Given the description of an element on the screen output the (x, y) to click on. 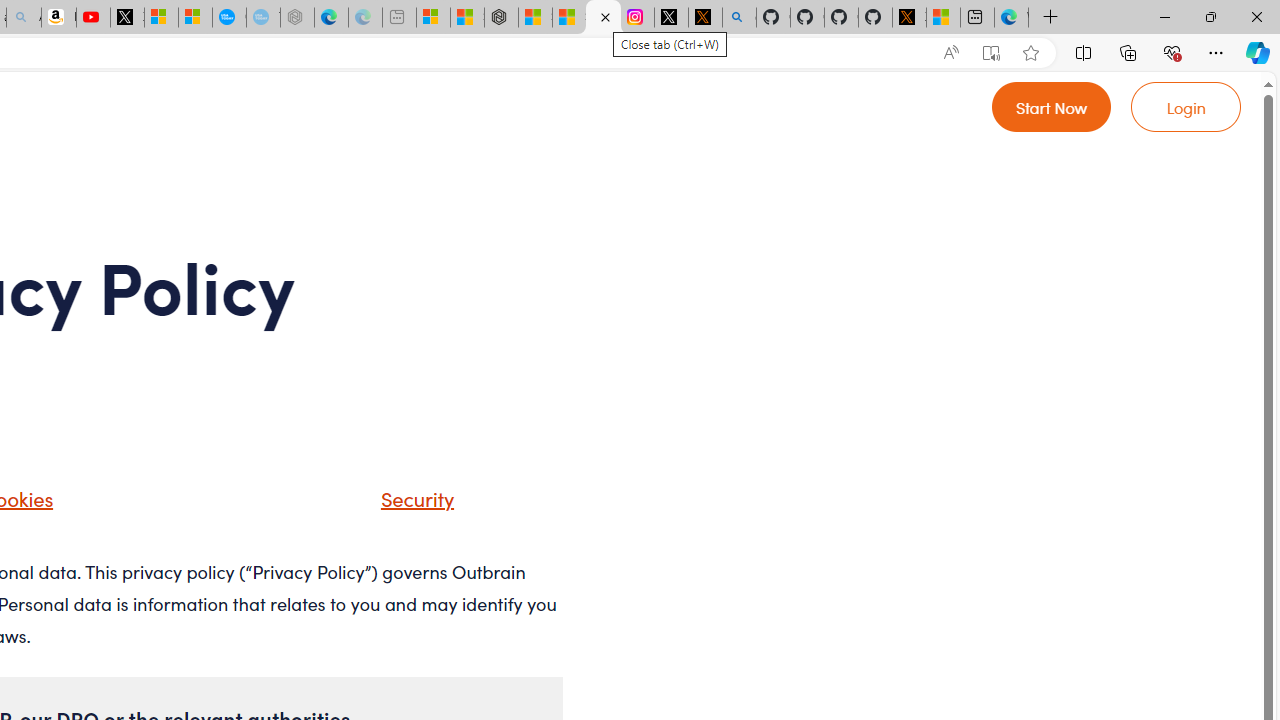
X Privacy Policy (909, 17)
help.x.com | 524: A timeout occurred (704, 17)
Welcome to Microsoft Edge (1010, 17)
Security (392, 505)
Go to Register (1051, 106)
Opinion: Op-Ed and Commentary - USA TODAY (228, 17)
Nordace - Duffels (501, 17)
New tab - Sleeping (398, 17)
